Given the description of an element on the screen output the (x, y) to click on. 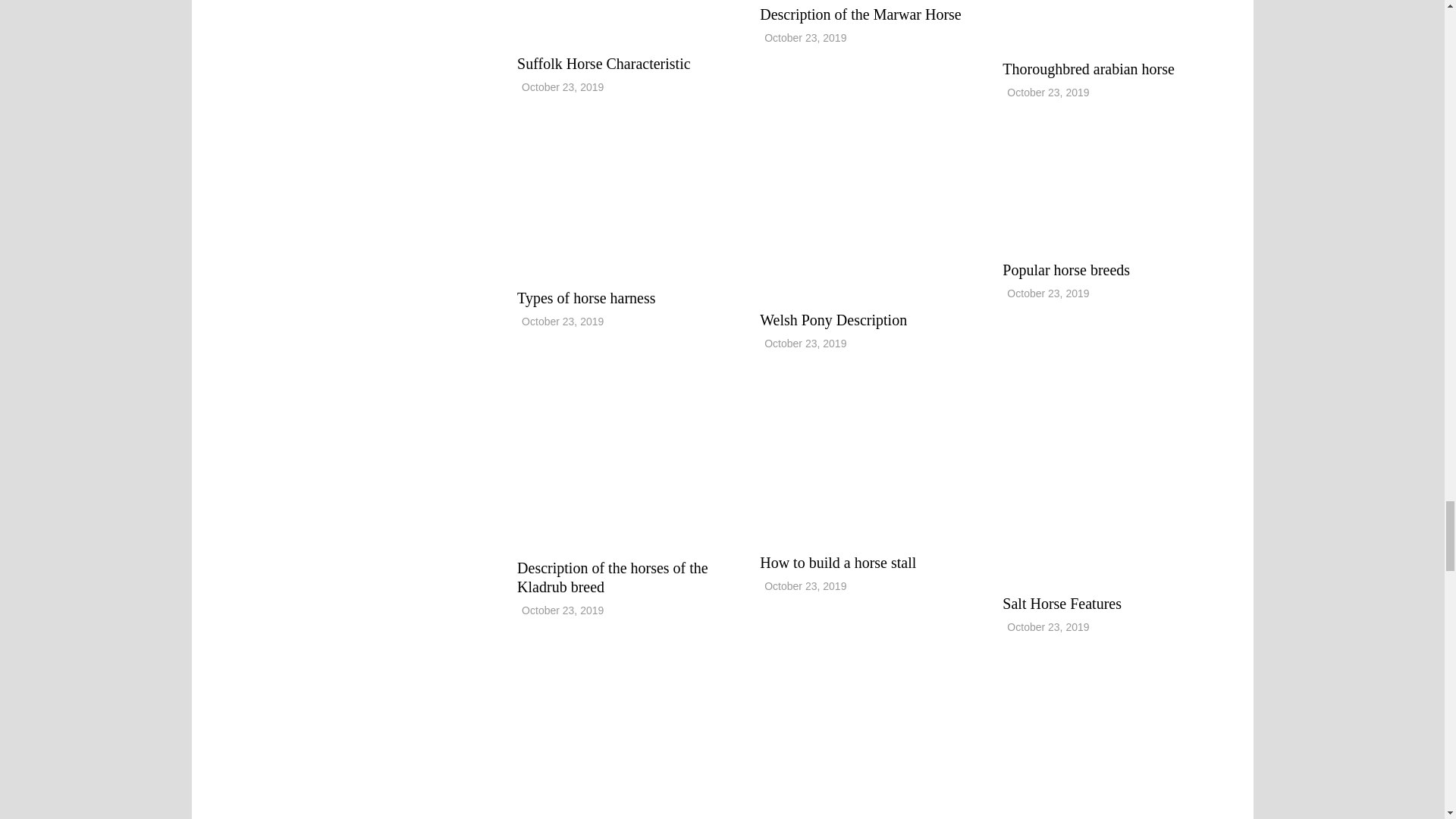
Thoroughbred arabian horse (1103, 22)
Types of horse harness (585, 297)
Suffolk Horse Characteristic (603, 63)
Suffolk Horse Characteristic (626, 19)
Types of horse harness (626, 200)
Thoroughbred arabian horse (1088, 68)
Description of the Marwar Horse (860, 13)
